Given the description of an element on the screen output the (x, y) to click on. 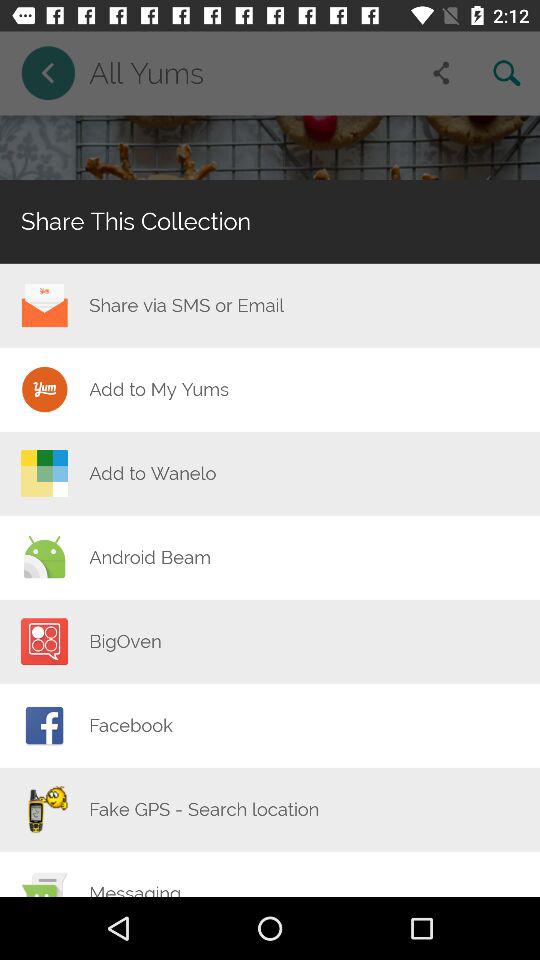
turn on the icon above the add to my (186, 305)
